Given the description of an element on the screen output the (x, y) to click on. 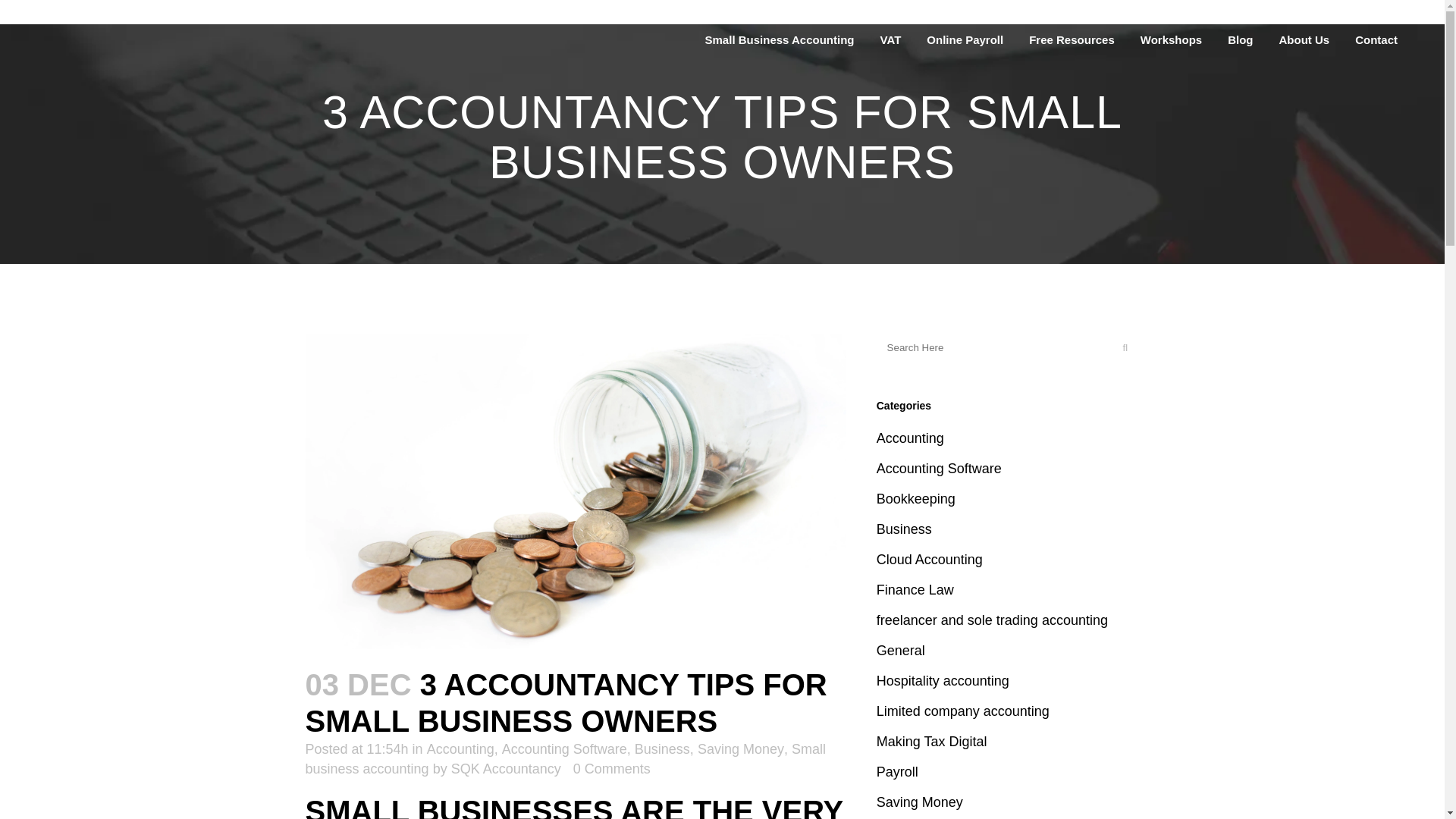
Online Payroll (965, 40)
Accounting Software (564, 749)
Free Accounting Resources (1071, 40)
0 Comments (611, 768)
Small Business Accounting (780, 40)
Saving Money (740, 749)
SQK Accountancy (505, 768)
Workshops (1170, 40)
About SQK Accounting, Manchester (1303, 40)
Workshops and Events (1170, 40)
